Given the description of an element on the screen output the (x, y) to click on. 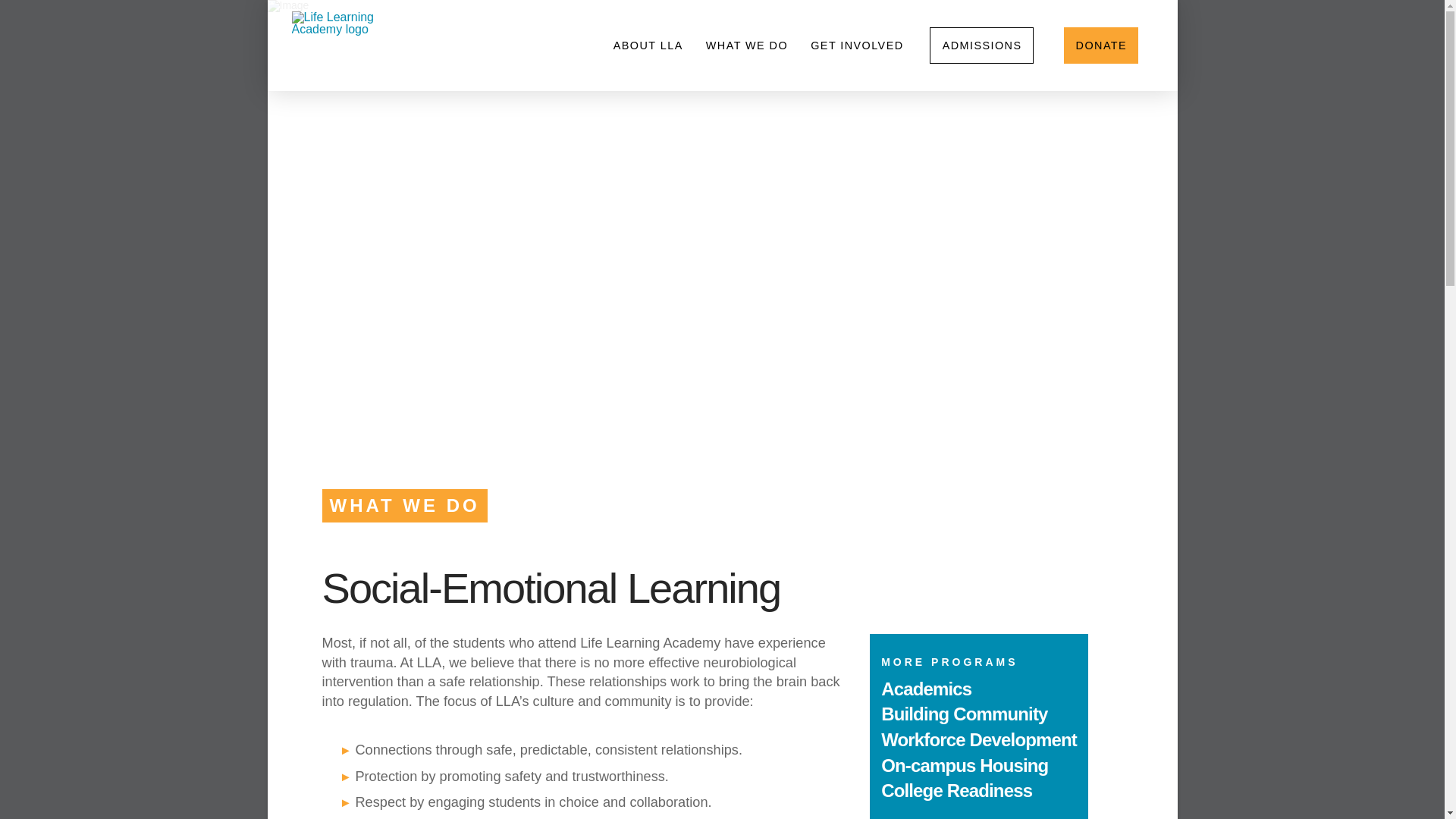
DONATE (1101, 45)
ADMISSIONS (981, 45)
Academics (925, 688)
Building Community (963, 713)
On-campus Housing (964, 765)
College Readiness (956, 790)
WHAT WE DO (745, 45)
ABOUT LLA (647, 45)
Workforce Development (978, 739)
GET INVOLVED (855, 45)
